Given the description of an element on the screen output the (x, y) to click on. 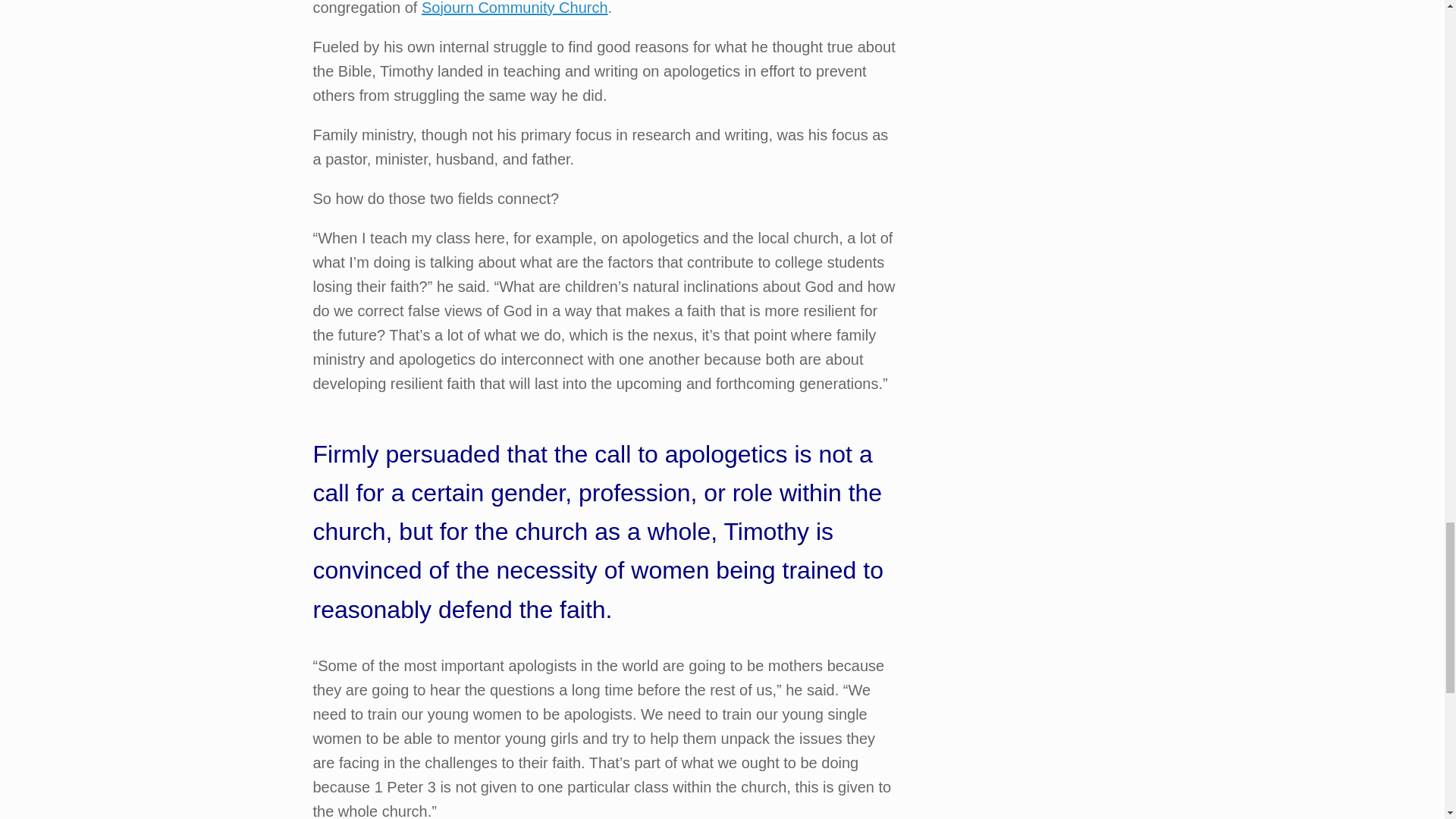
Sojourn Community Church (515, 7)
